Given the description of an element on the screen output the (x, y) to click on. 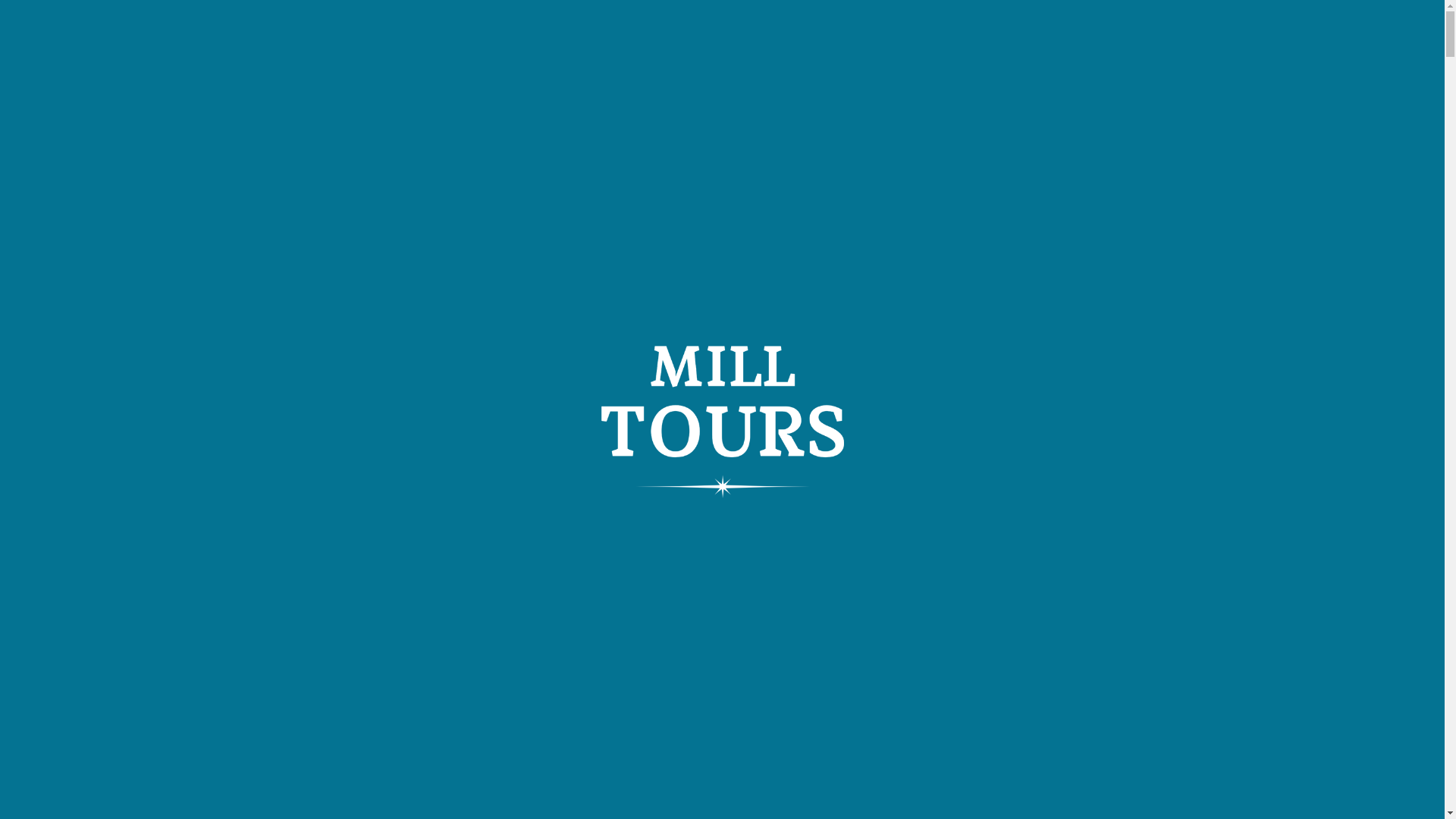
+375 44 546-58-61 Element type: text (759, 26)
+375 29 764-05-94 Element type: text (935, 26)
